Given the description of an element on the screen output the (x, y) to click on. 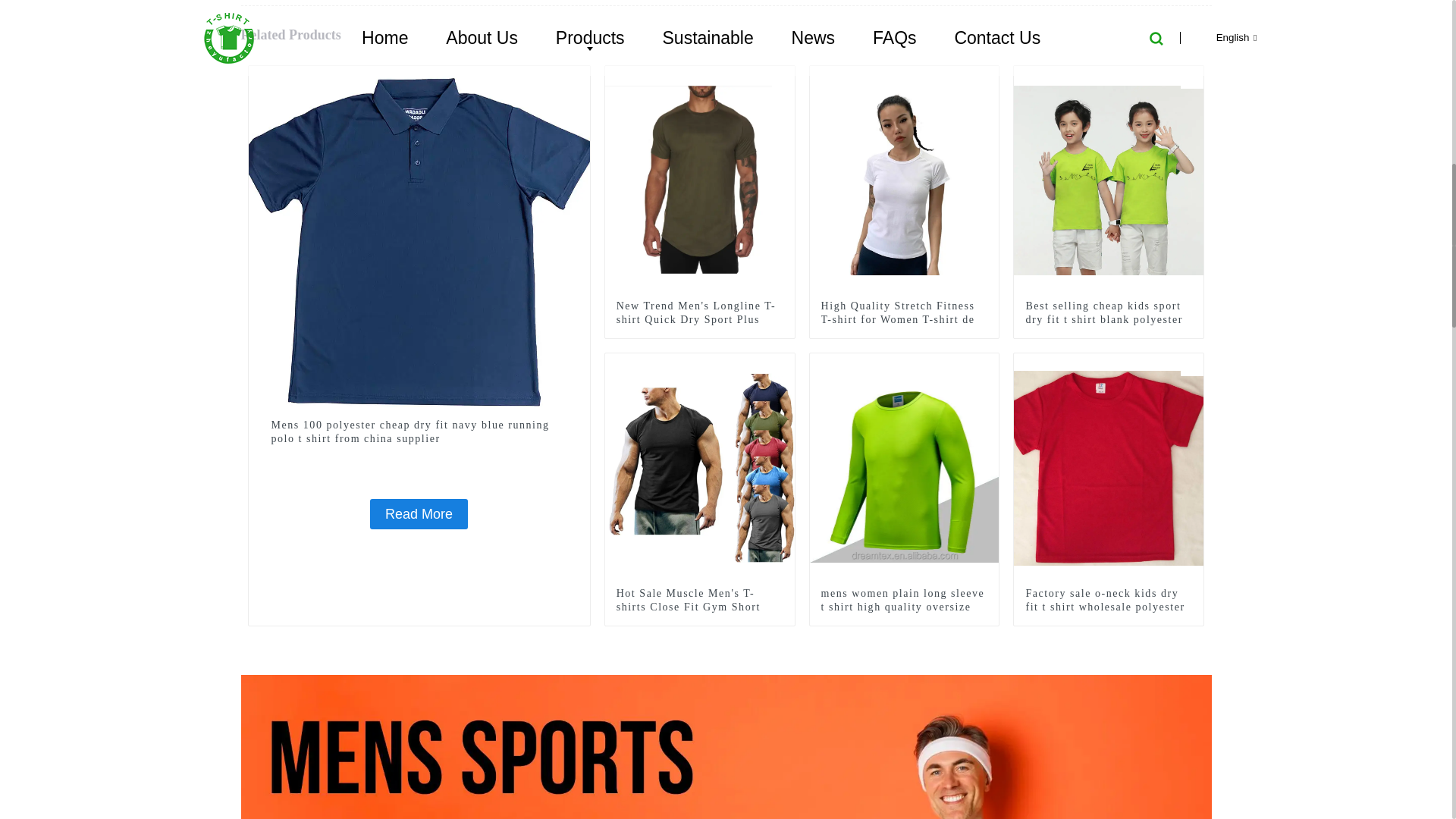
Read More (418, 513)
